Given the description of an element on the screen output the (x, y) to click on. 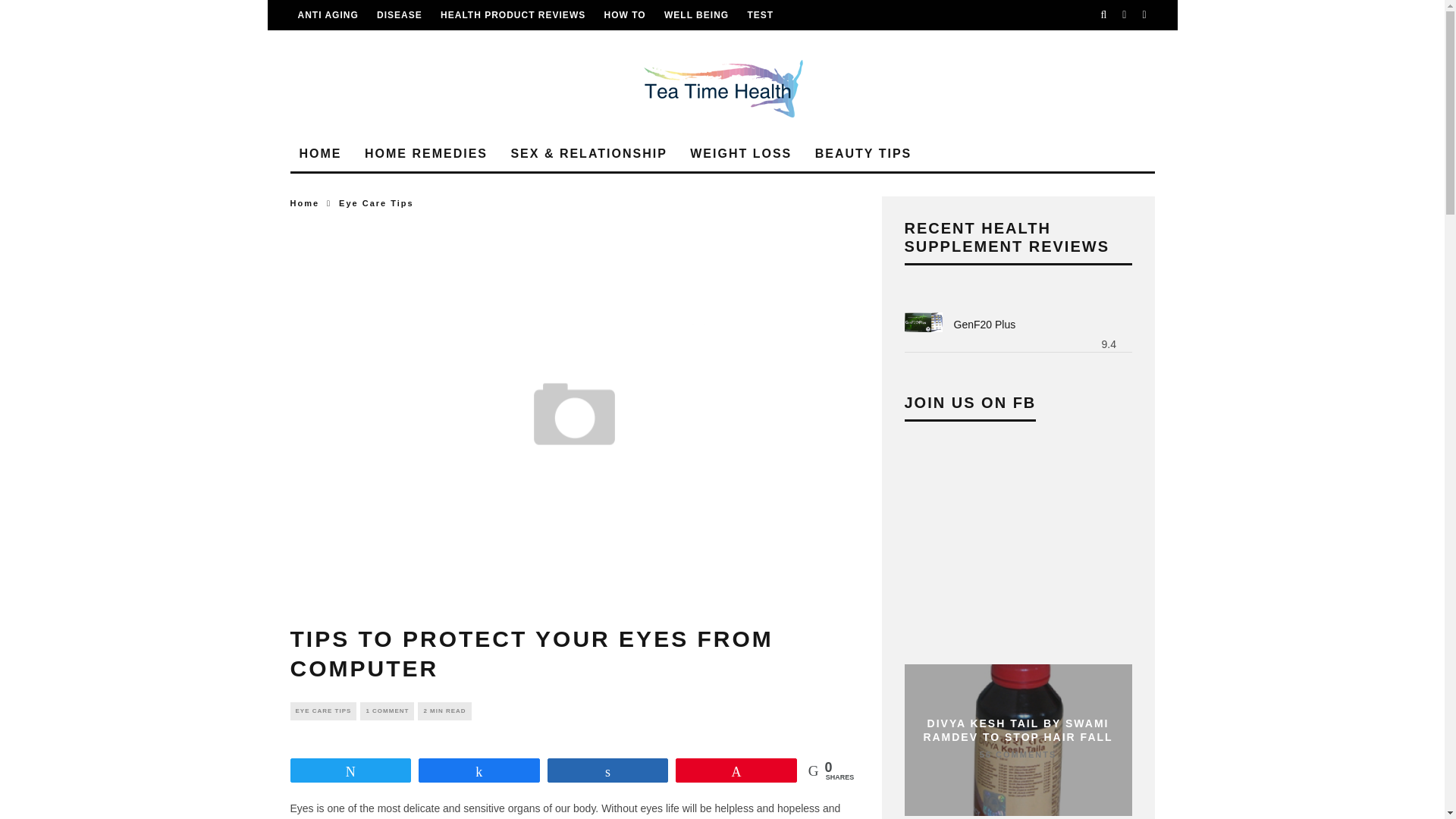
2 MIN READ (443, 710)
View all posts in Eye Care Tips (322, 710)
Eye Care Tips (376, 203)
Home (303, 203)
1 COMMENT (386, 710)
HEALTH PRODUCT REVIEWS (513, 15)
GenF20 Plus (984, 324)
HOME (319, 154)
BEAUTY TIPS (863, 154)
GenF20 Plus (923, 325)
Log In (721, 409)
EYE CARE TIPS (322, 710)
ANTI AGING (327, 15)
WEIGHT LOSS (740, 154)
HOME REMEDIES (425, 154)
